Given the description of an element on the screen output the (x, y) to click on. 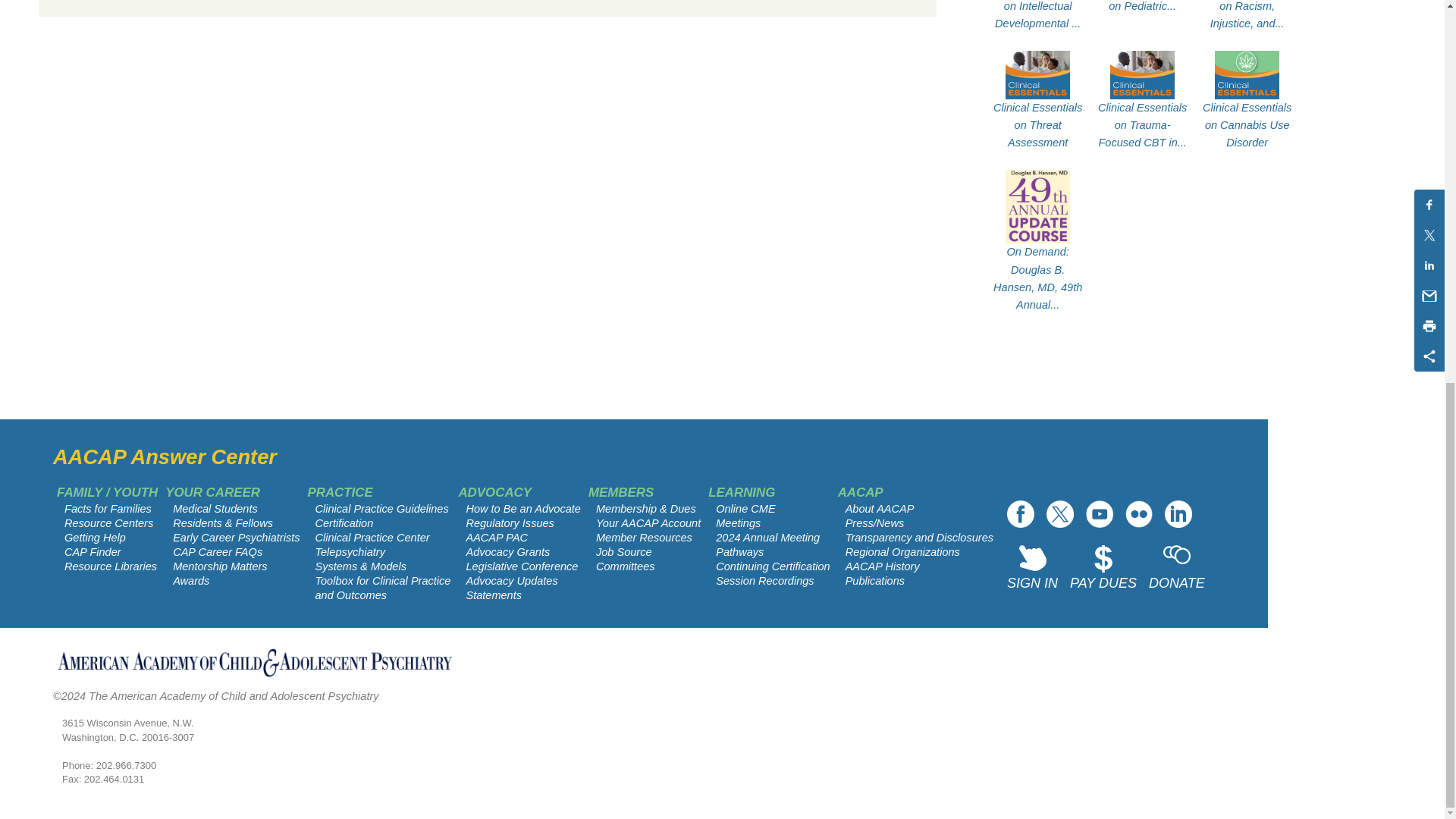
Clinical Essentials on Trauma-Focused CBT in Pediatric PTSD (1142, 125)
Clinical Essentials on Intellectual Developmental Disorder (1037, 16)
CME (507, 551)
Follow us on Facebook! (1020, 513)
Clinical Essentials on Cannabis Use Disorder (1247, 125)
Clinical Essentials on Pediatric Psychopharmacology (1142, 7)
On Demand: Douglas B. Hansen, MD, 49th Annual Update Course (1037, 278)
Clinical Essentials on Threat Assessment (1037, 125)
Clinical Essentials on Racism, Injustice, and Inequities (1247, 16)
